Given the description of an element on the screen output the (x, y) to click on. 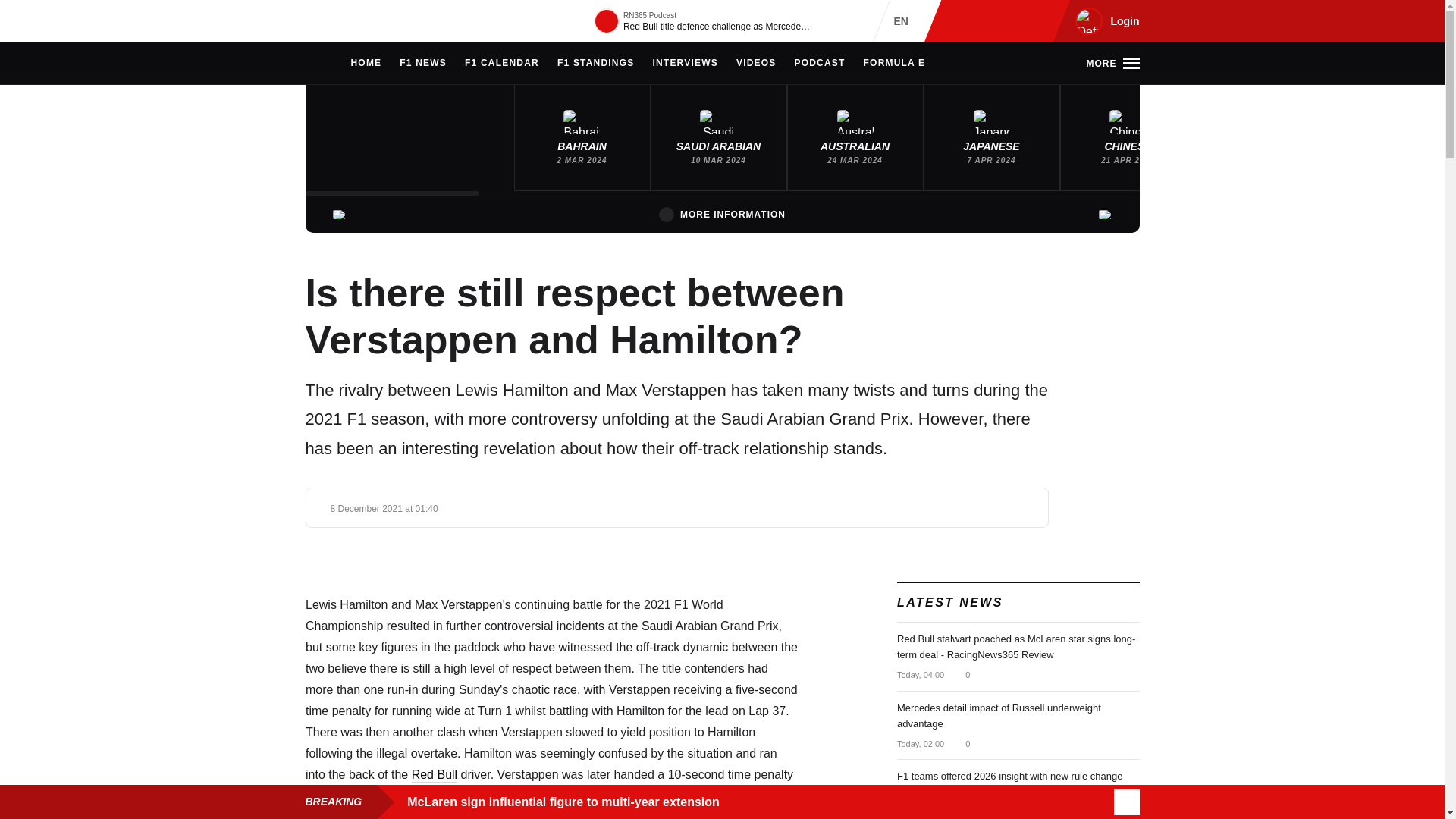
Wednesday 8 December 2021 at 01:40 (384, 508)
RacingNews365 on X (1010, 21)
F1 CALENDAR (501, 63)
Login (1104, 21)
RacingNews365 on Instagram (962, 21)
VIDEOS (756, 63)
FORMULA E (894, 63)
RacingNews365 (350, 21)
F1 STANDINGS (595, 63)
PODCAST (818, 63)
